Given the description of an element on the screen output the (x, y) to click on. 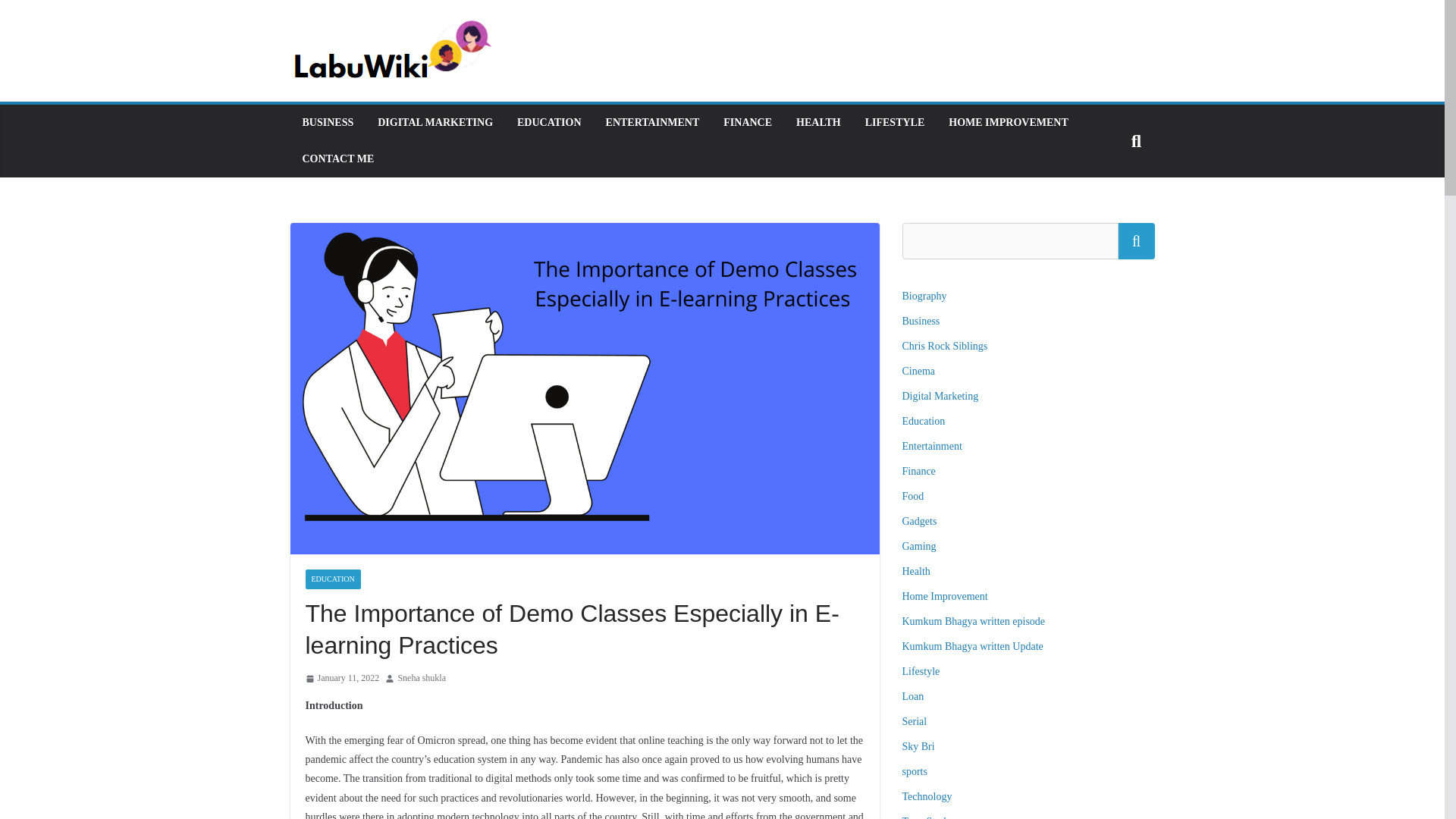
HEALTH (818, 122)
EDUCATION (331, 578)
EDUCATION (548, 122)
CONTACT ME (337, 158)
FINANCE (747, 122)
DIGITAL MARKETING (435, 122)
Sneha shukla (421, 678)
ENTERTAINMENT (652, 122)
LIFESTYLE (894, 122)
January 11, 2022 (341, 678)
